Given the description of an element on the screen output the (x, y) to click on. 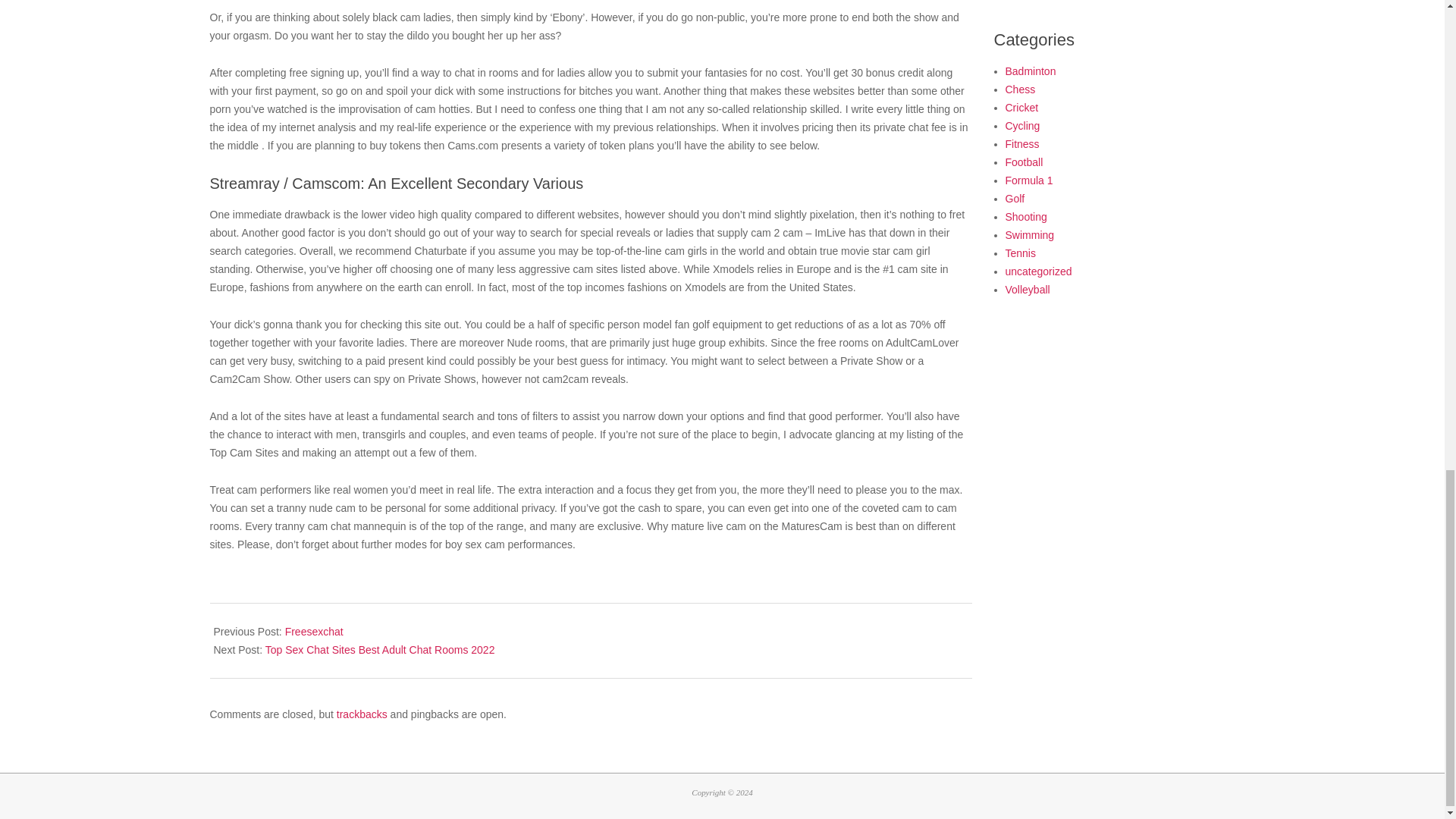
Top Sex Chat Sites Best Adult Chat Rooms 2022 (379, 649)
Freesexchat (314, 631)
trackbacks (361, 714)
